Given the description of an element on the screen output the (x, y) to click on. 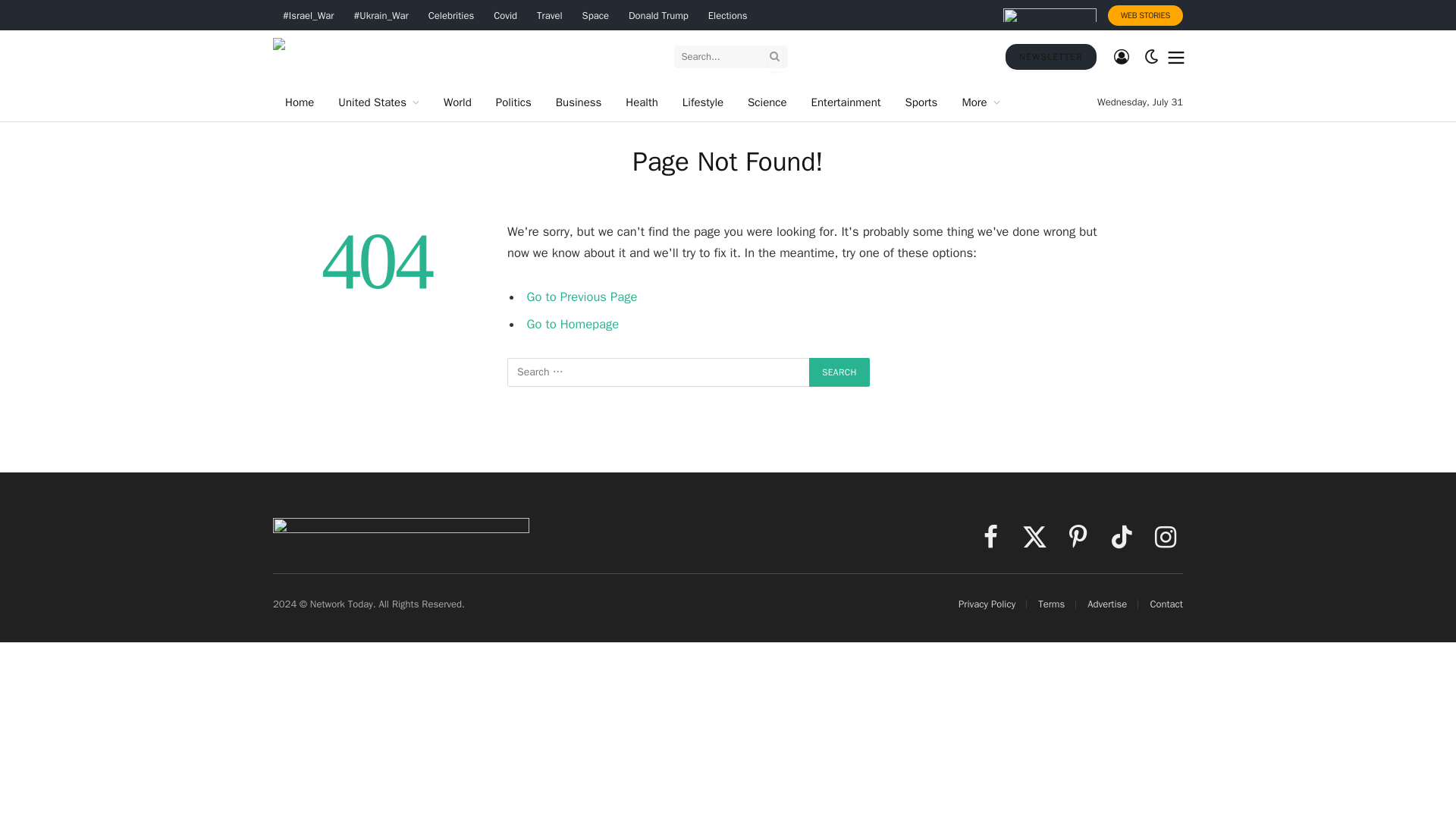
Travel (549, 15)
Elections (727, 15)
Switch to Dark Design - easier on eyes. (1151, 56)
NEWSLETTER (1051, 56)
Celebrities (451, 15)
Search (839, 371)
Space (595, 15)
Network Today (405, 56)
Covid (505, 15)
Donald Trump (658, 15)
Search (839, 371)
WEB STORIES (1145, 14)
